Given the description of an element on the screen output the (x, y) to click on. 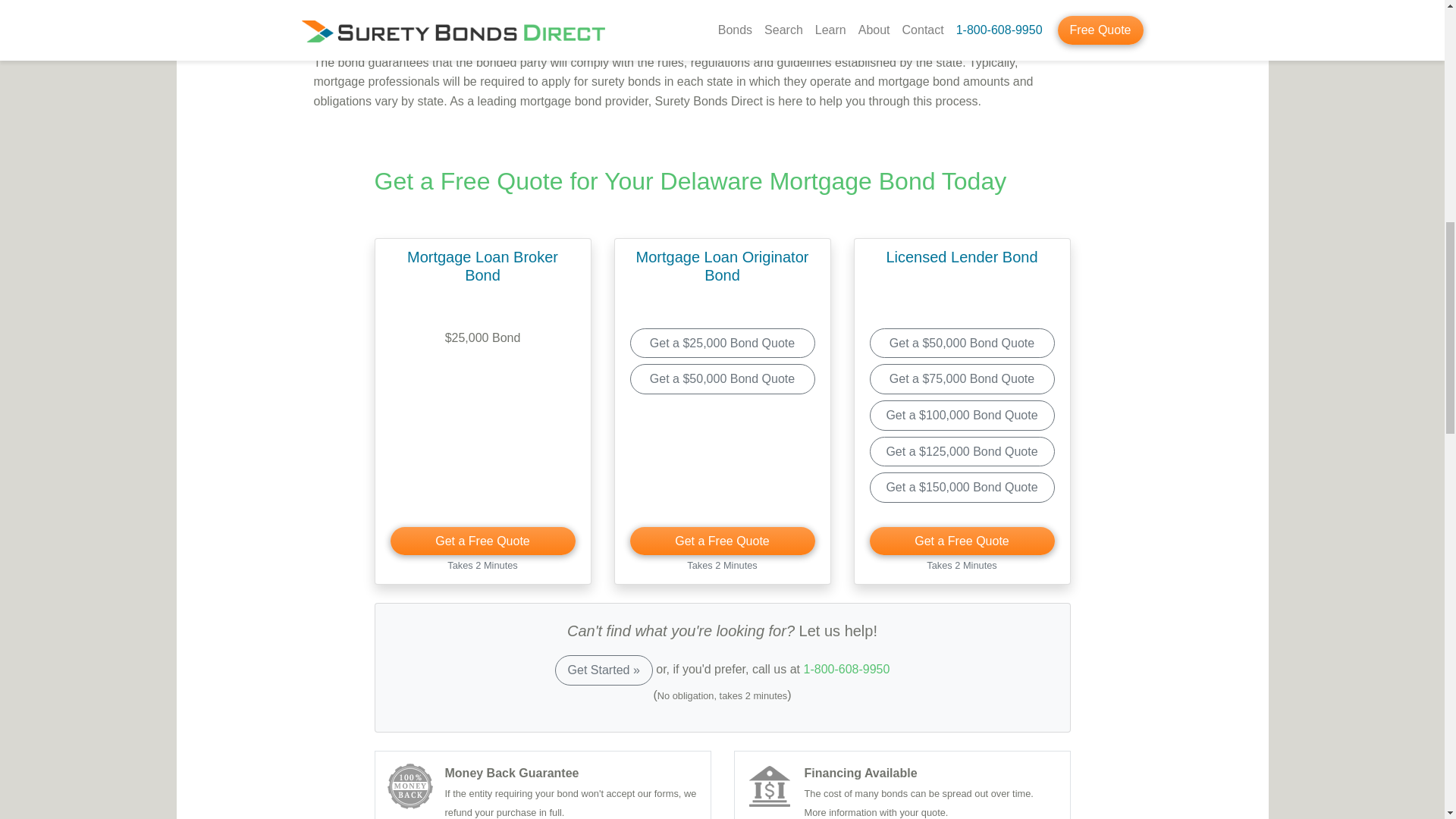
Get a Free Quote (482, 541)
Get a Free Quote (961, 541)
Get a Free Quote (720, 541)
